Given the description of an element on the screen output the (x, y) to click on. 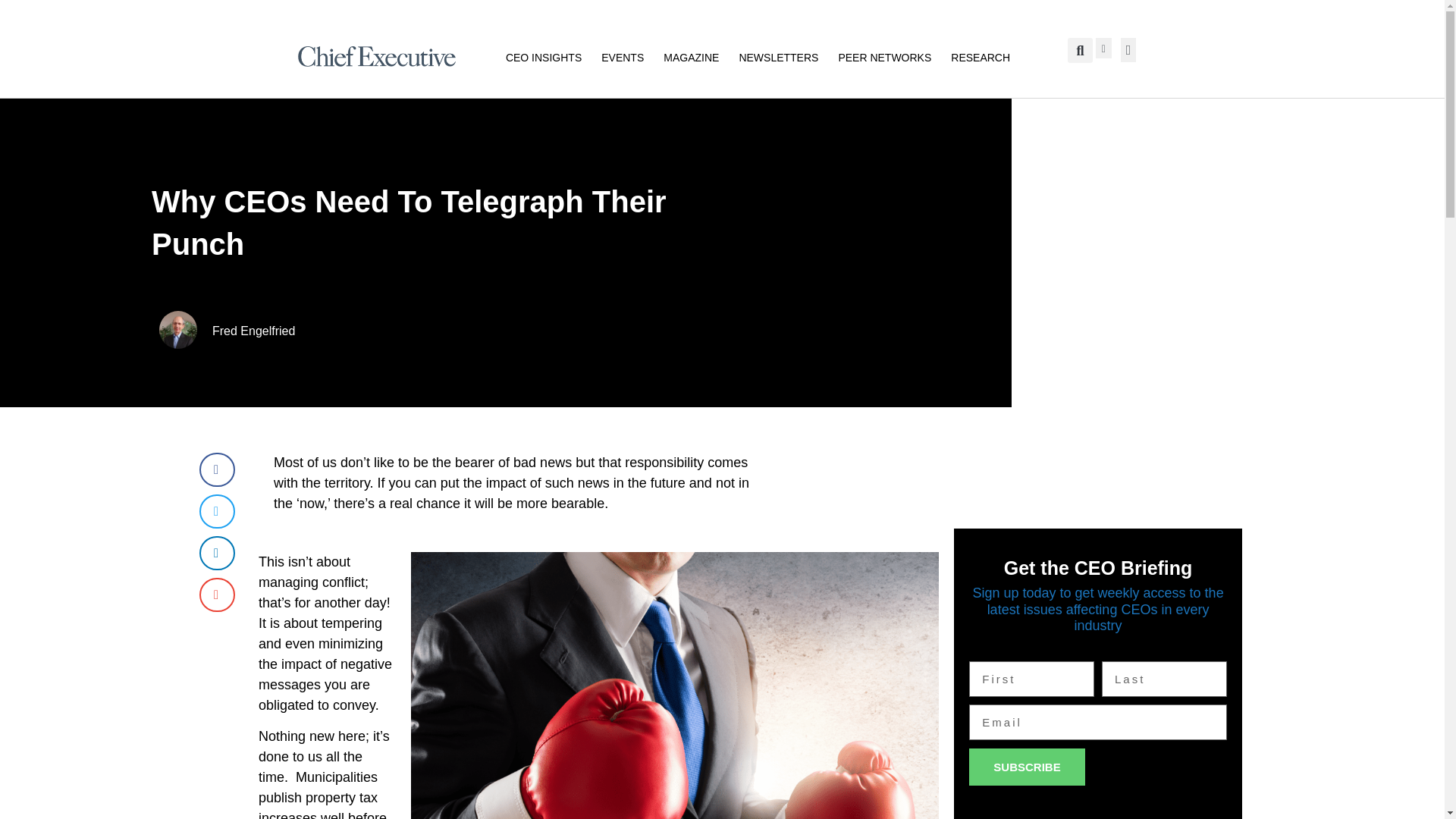
NEWSLETTERS (778, 56)
EVENTS (622, 56)
RESEARCH (980, 56)
CEO INSIGHTS (543, 56)
MAGAZINE (691, 56)
PEER NETWORKS (884, 56)
